Given the description of an element on the screen output the (x, y) to click on. 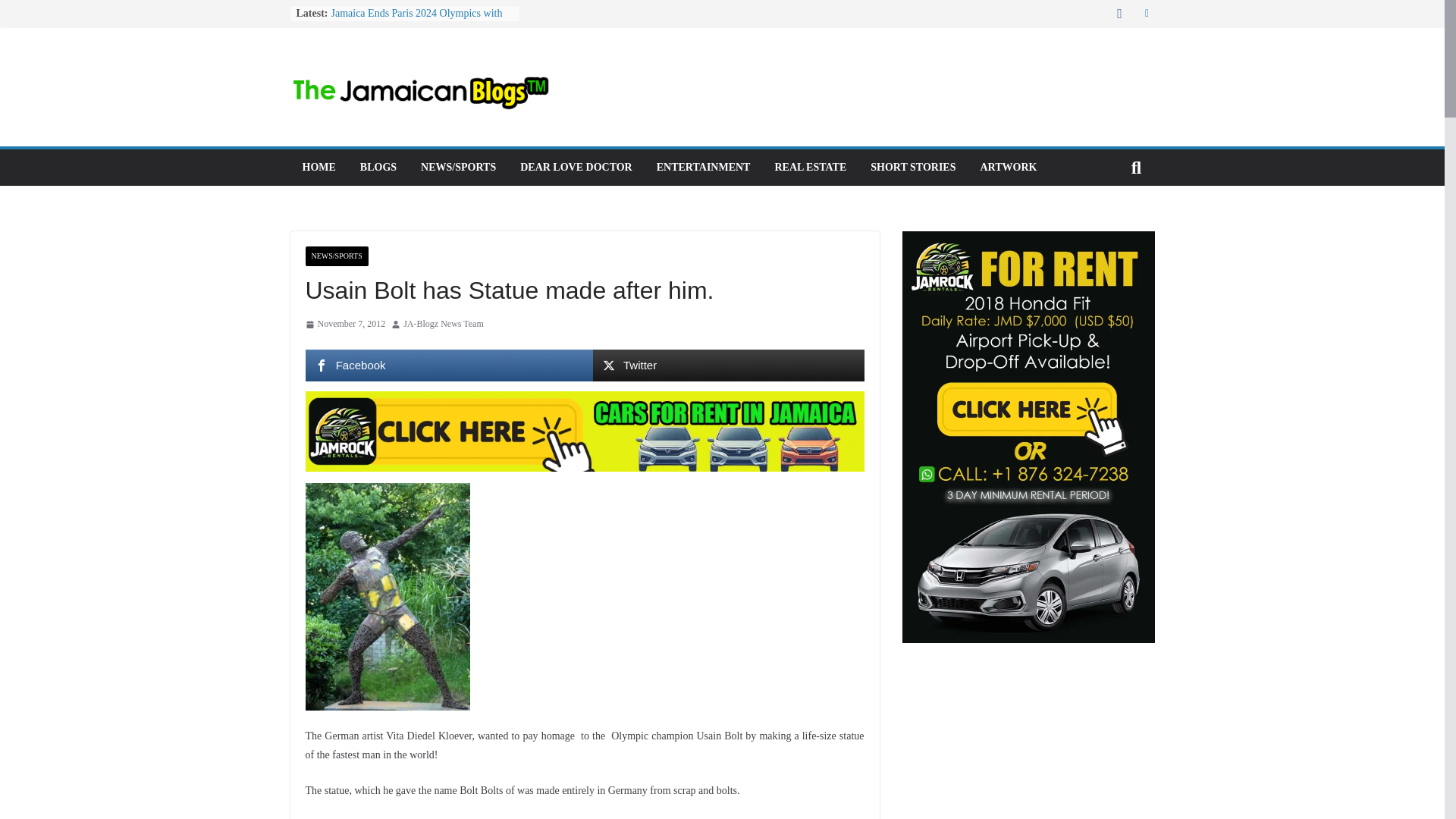
JA-Blogz News Team (443, 324)
DEAR LOVE DOCTOR (575, 167)
JA-Blogz News Team (443, 324)
ENTERTAINMENT (703, 167)
HOME (317, 167)
BLOGS (377, 167)
ARTWORK (1007, 167)
SHORT STORIES (912, 167)
Twitter (728, 365)
